Given the description of an element on the screen output the (x, y) to click on. 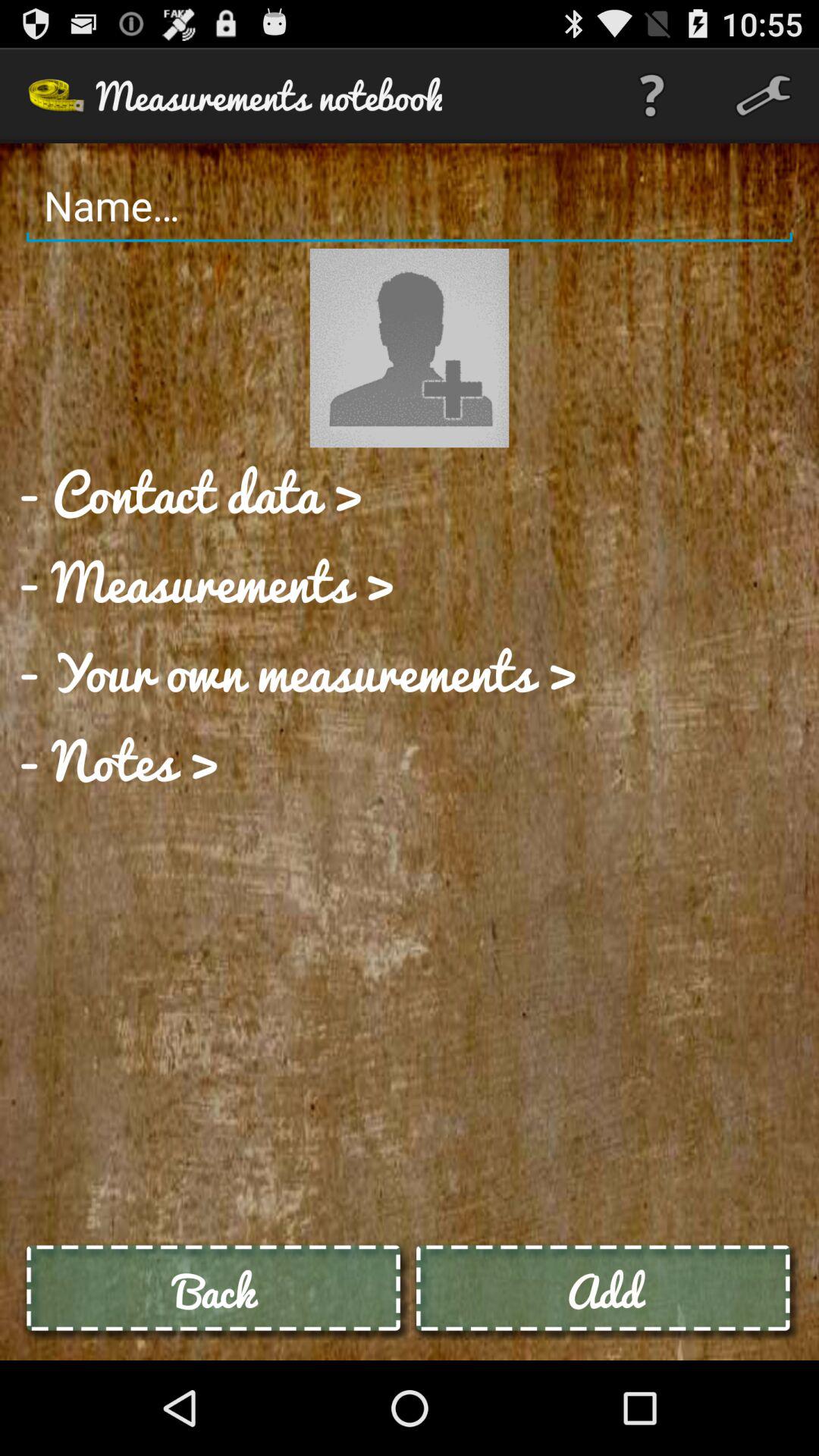
launch the item above - measurements > icon (190, 491)
